Given the description of an element on the screen output the (x, y) to click on. 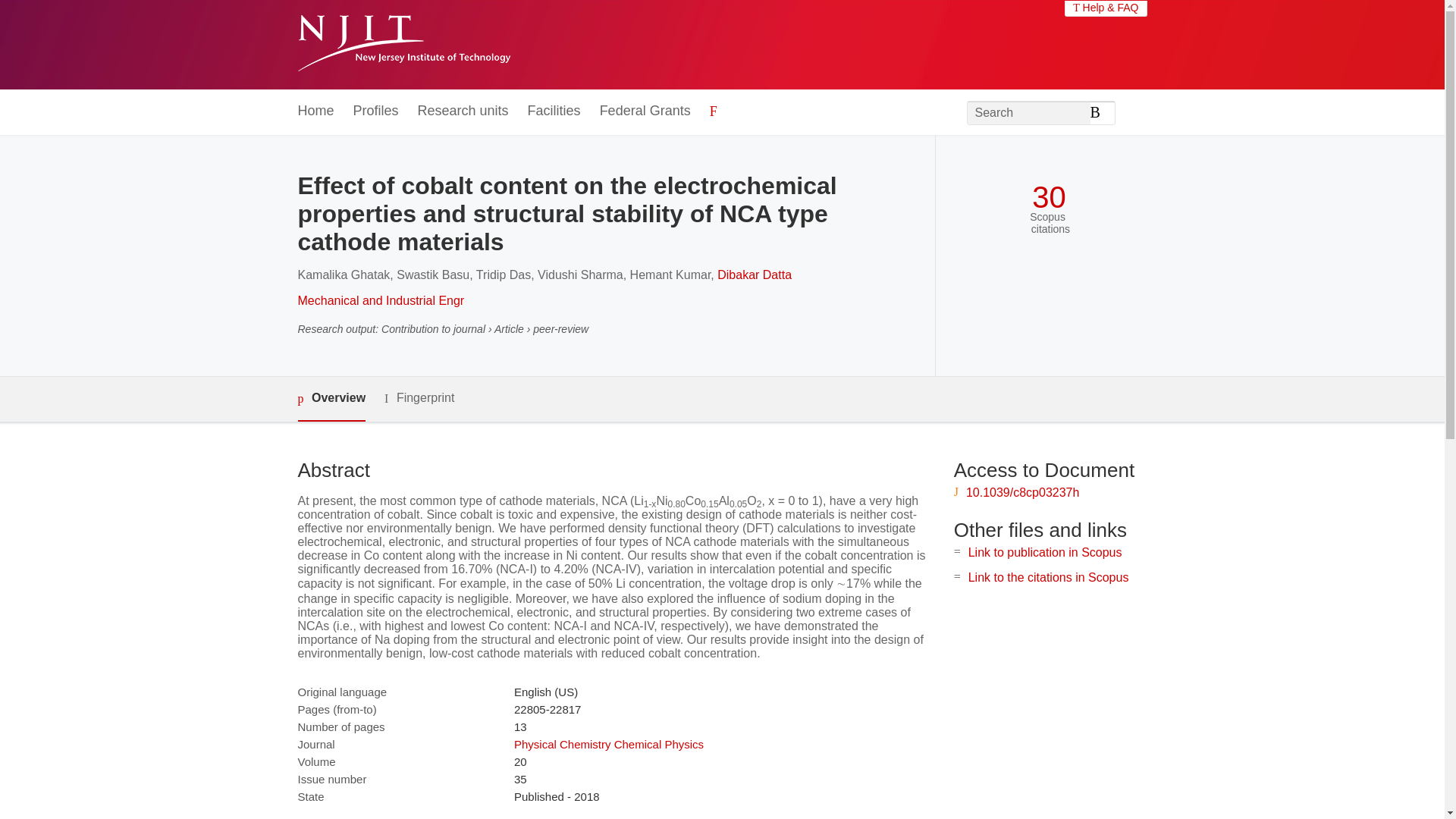
Physical Chemistry Chemical Physics (608, 744)
Profiles (375, 111)
Facilities (553, 111)
Fingerprint (419, 398)
Mechanical and Industrial Engr (380, 300)
Dibakar Datta (754, 274)
Research units (462, 111)
Federal Grants (644, 111)
30 (1048, 197)
